Given the description of an element on the screen output the (x, y) to click on. 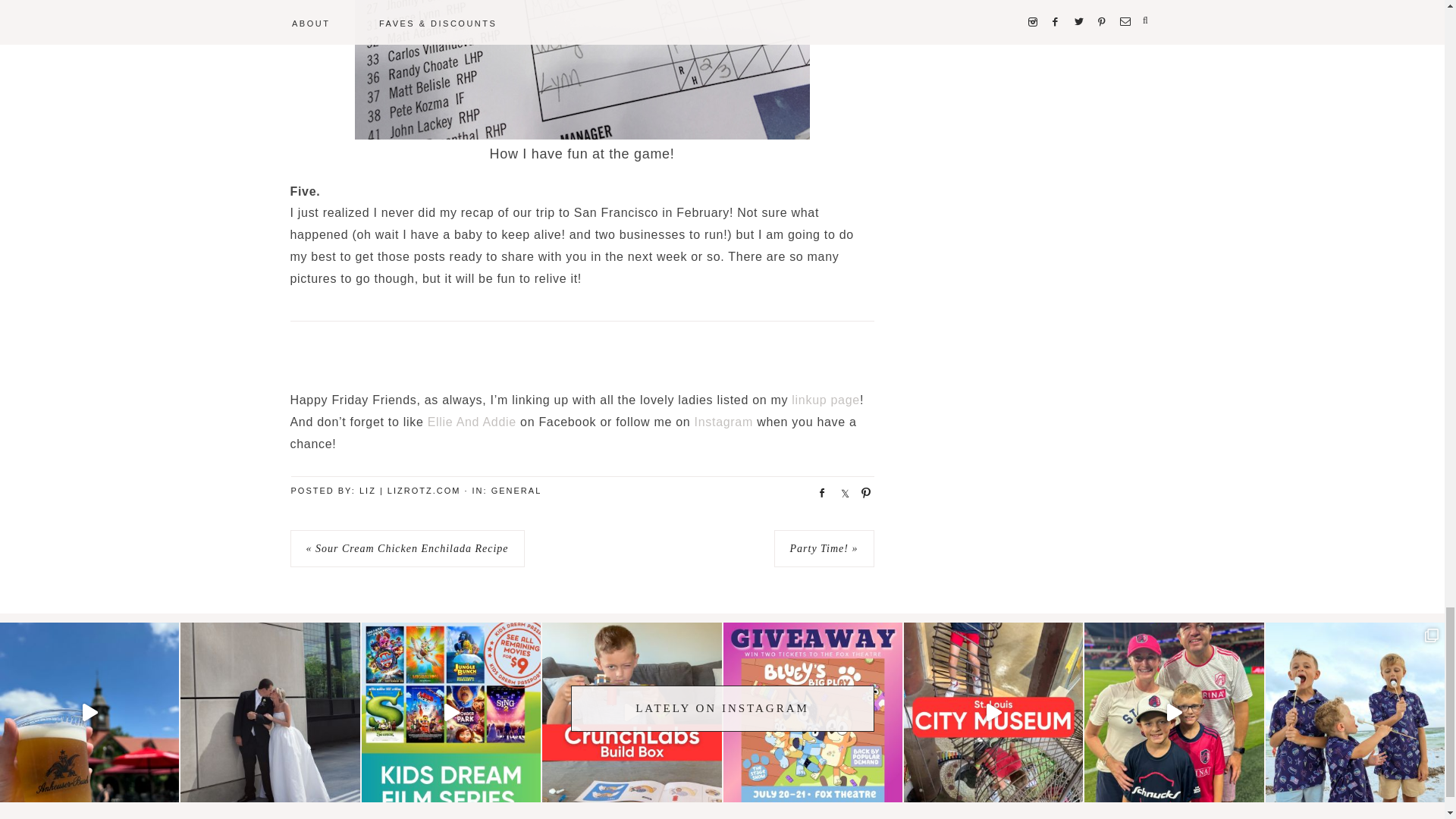
Ellie And Addie (472, 421)
Link Ups (826, 399)
linkup page (826, 399)
Instagram (723, 421)
